Given the description of an element on the screen output the (x, y) to click on. 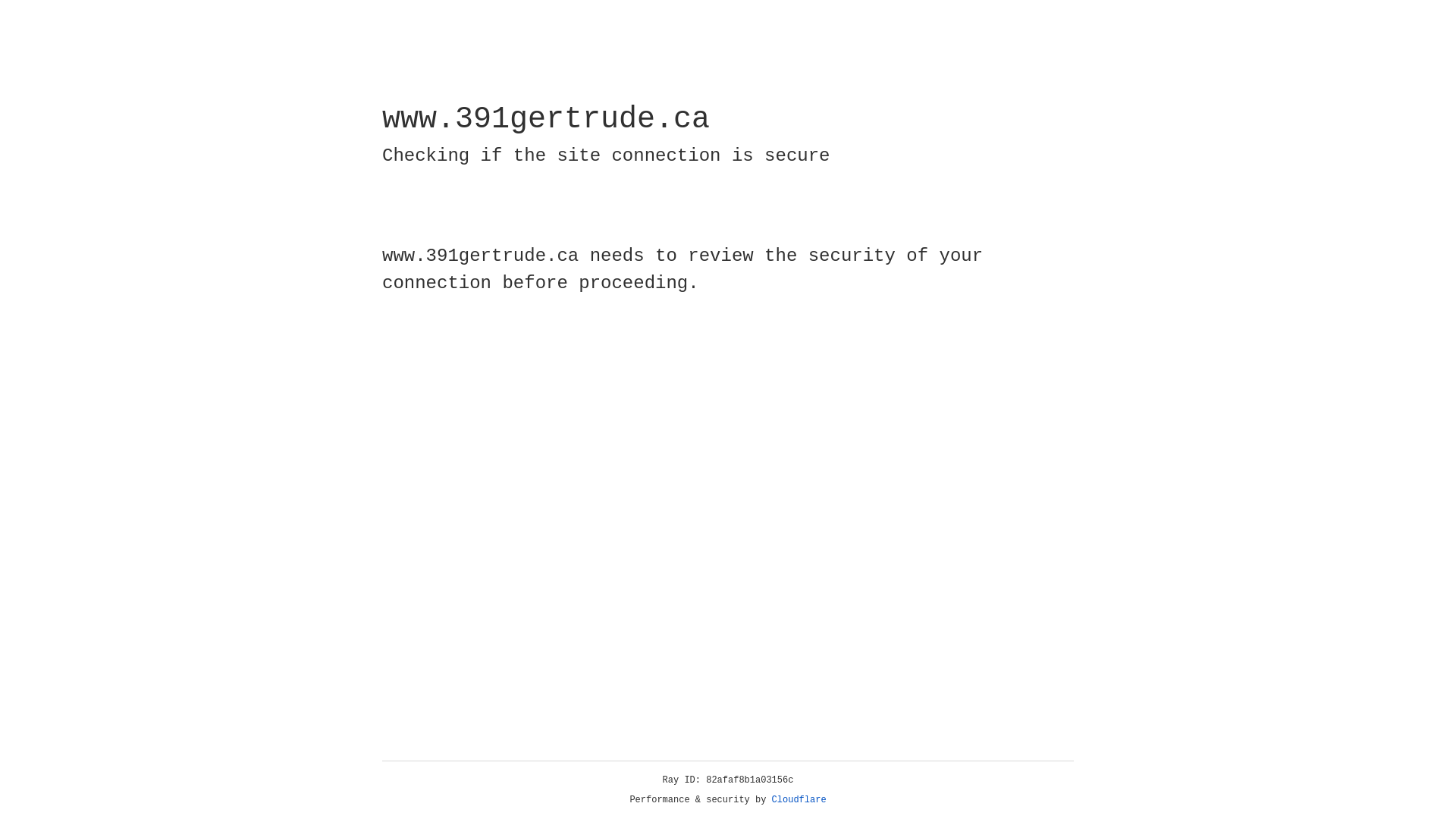
Cloudflare Element type: text (798, 799)
